Given the description of an element on the screen output the (x, y) to click on. 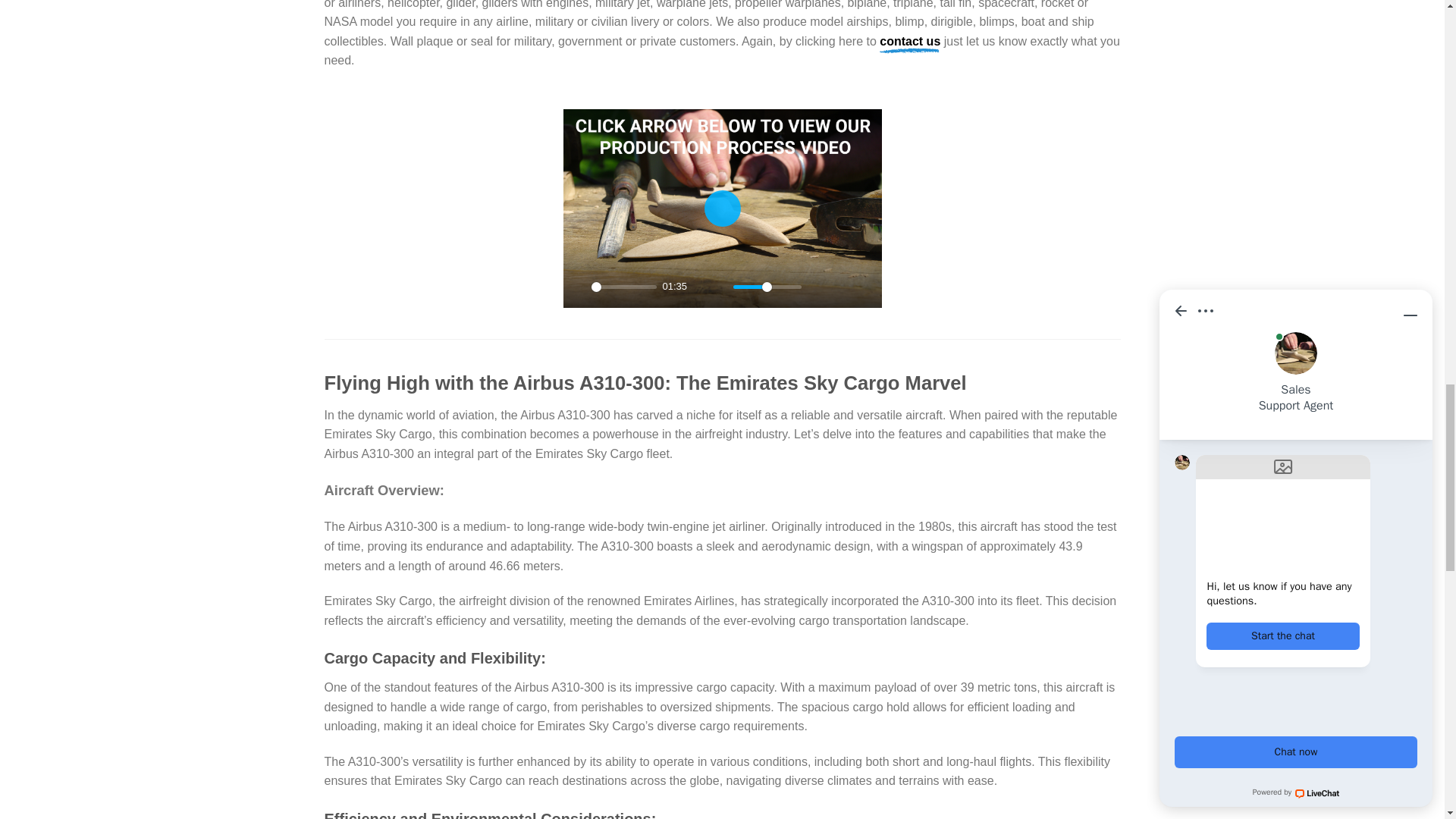
0.5 (766, 287)
0 (623, 287)
